Given the description of an element on the screen output the (x, y) to click on. 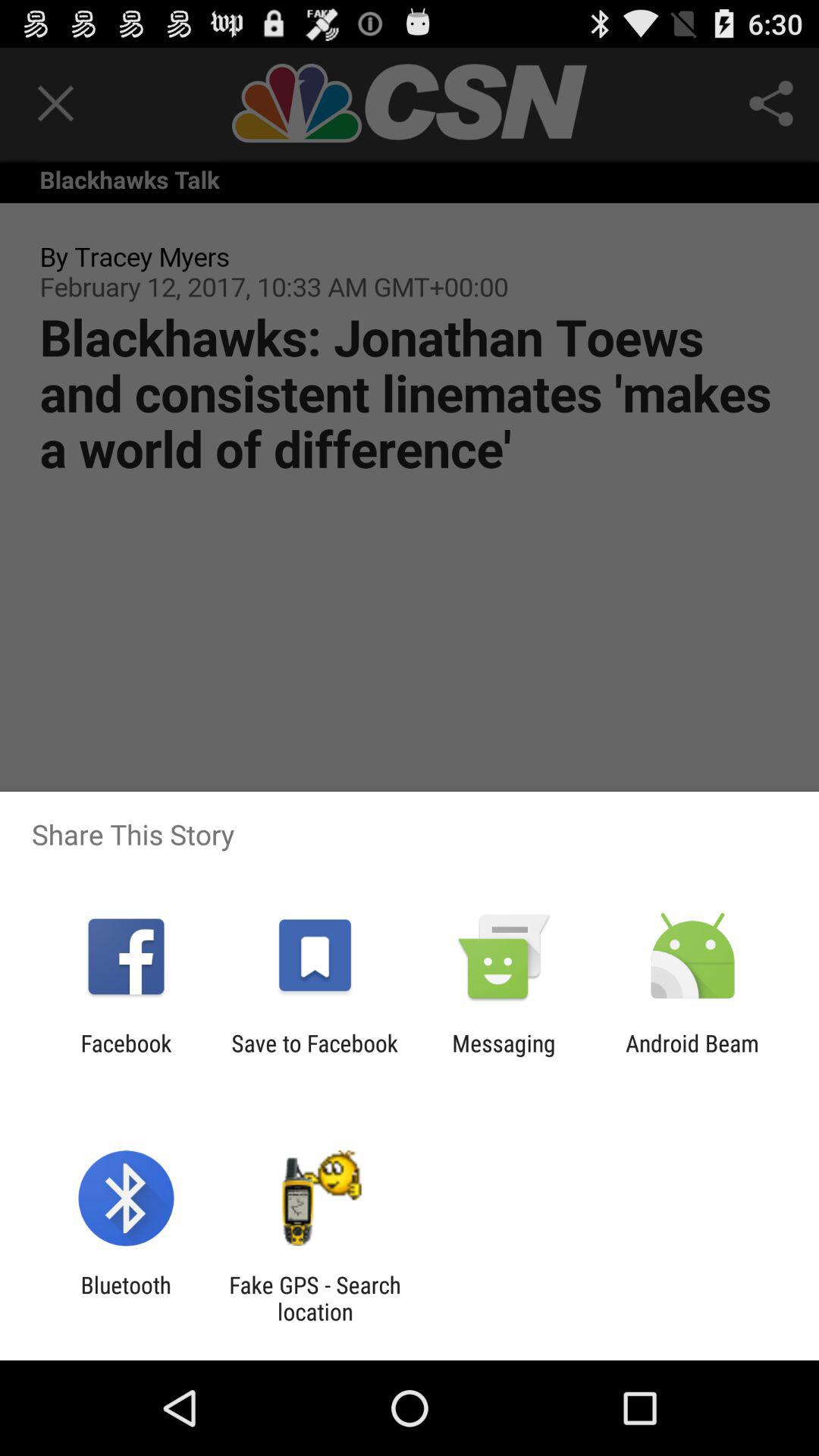
press the messaging icon (503, 1056)
